Given the description of an element on the screen output the (x, y) to click on. 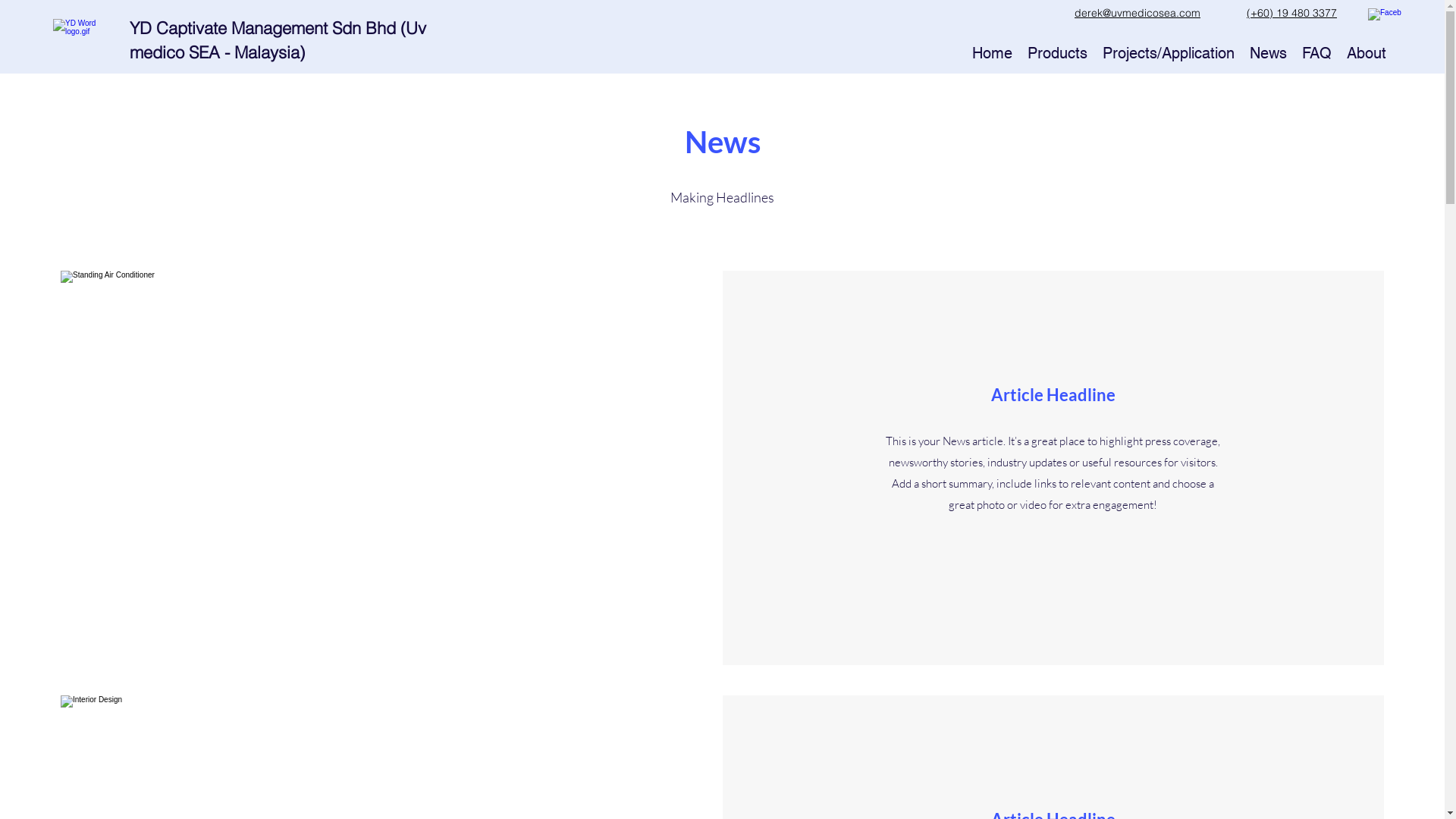
FAQ Element type: text (1316, 52)
(+60) 19 480 3377 Element type: text (1291, 12)
Home Element type: text (991, 52)
derek@uvmedicosea.com Element type: text (1137, 12)
Projects/Application Element type: text (1168, 52)
Products Element type: text (1057, 52)
About Element type: text (1366, 52)
News Element type: text (1268, 52)
